Given the description of an element on the screen output the (x, y) to click on. 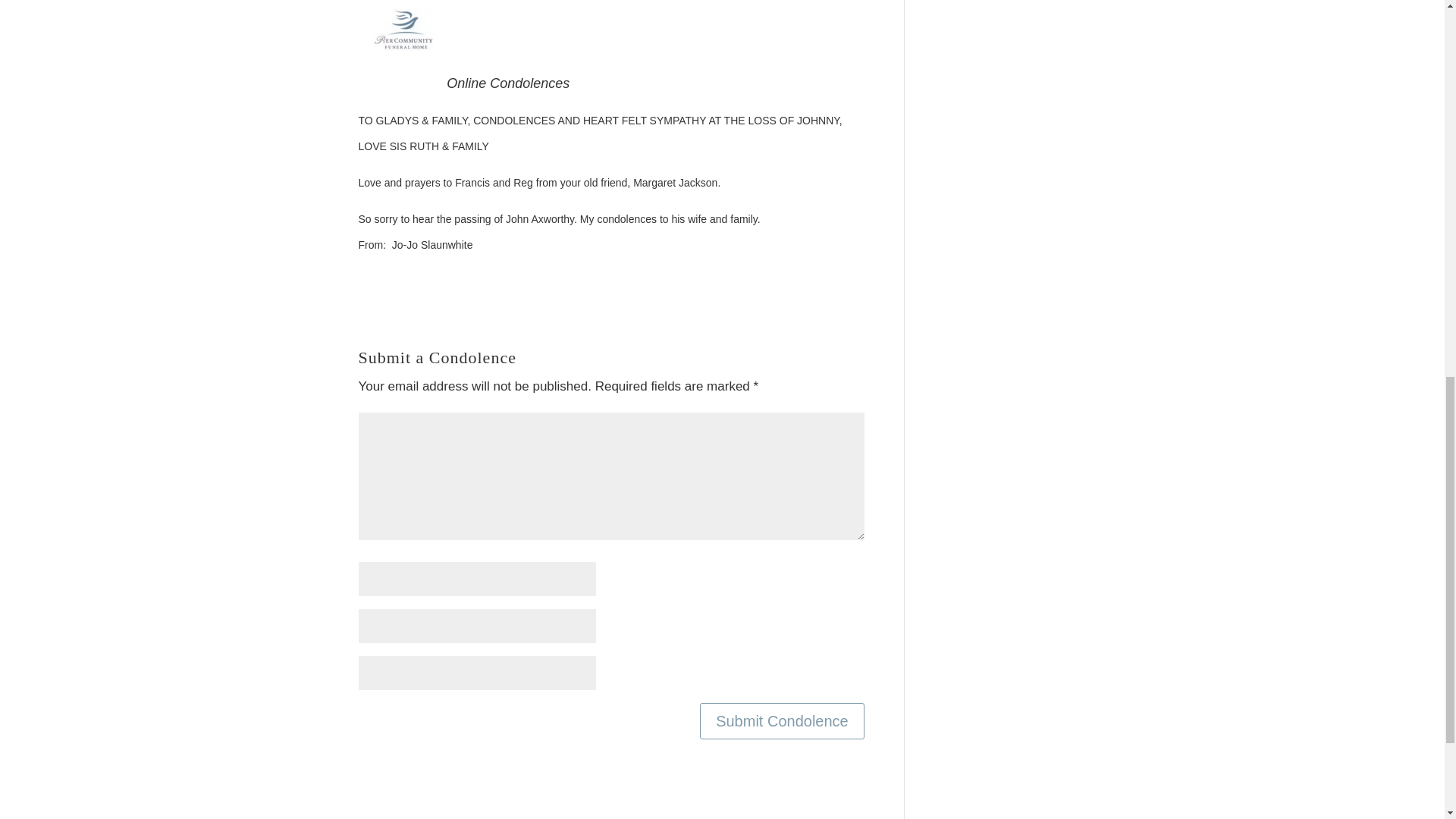
Submit Condolence (782, 720)
Submit Condolence (782, 720)
